Given the description of an element on the screen output the (x, y) to click on. 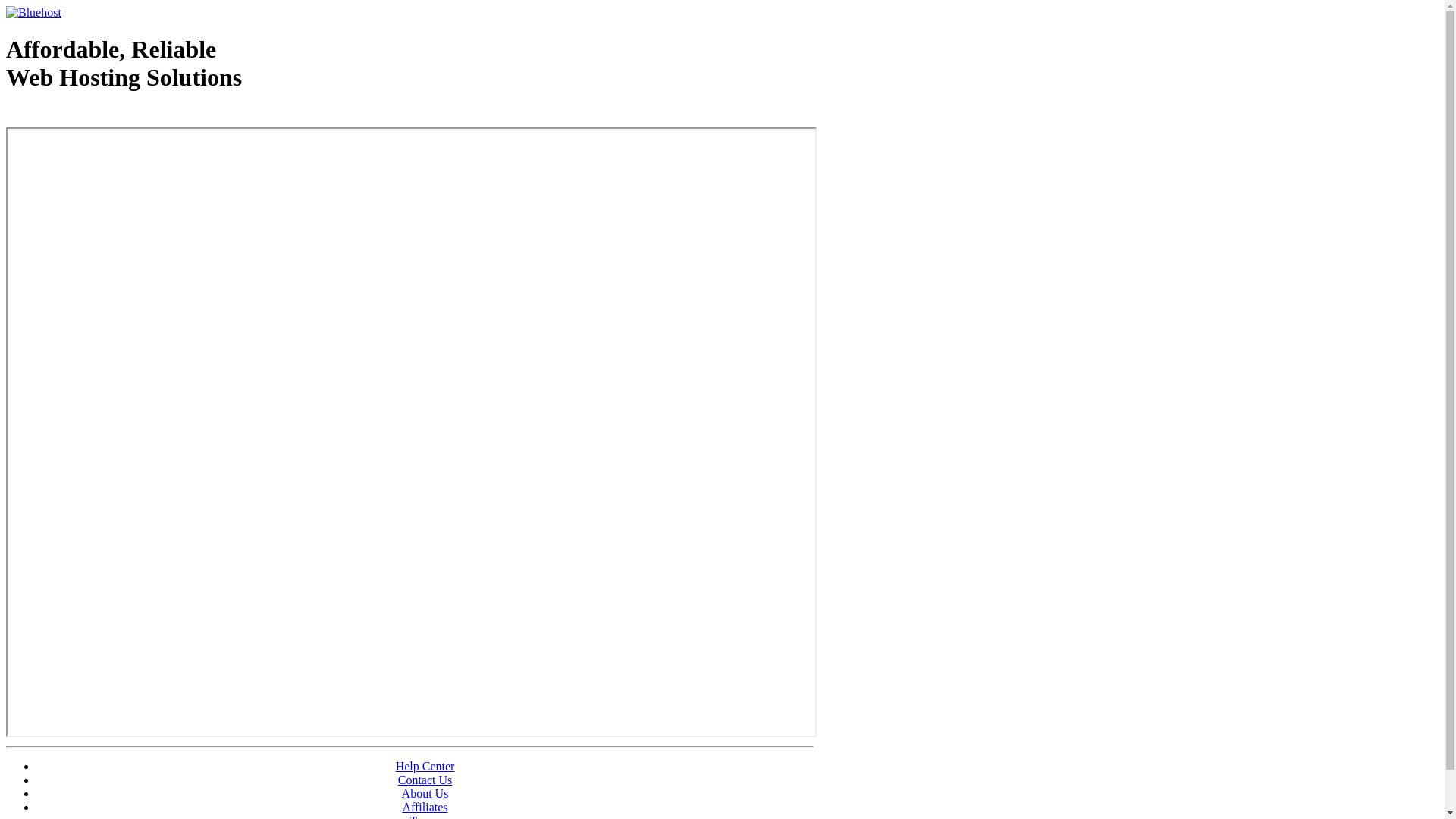
Contact Us Element type: text (425, 779)
Affiliates Element type: text (424, 806)
Web Hosting - courtesy of www.bluehost.com Element type: text (94, 115)
Help Center Element type: text (425, 765)
About Us Element type: text (424, 793)
